Given the description of an element on the screen output the (x, y) to click on. 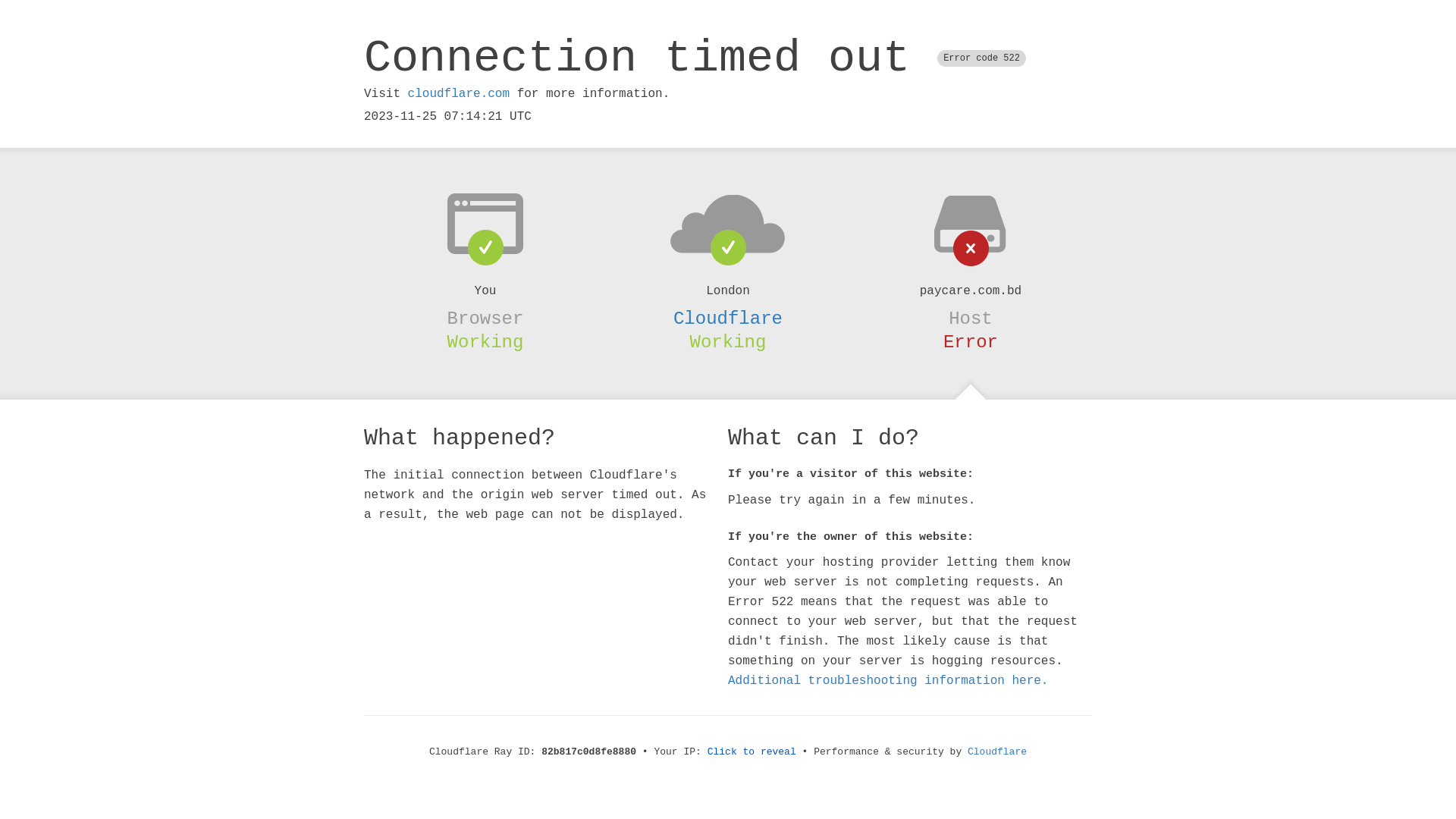
cloudflare.com Element type: text (458, 93)
Additional troubleshooting information here. Element type: text (888, 680)
Cloudflare Element type: text (727, 318)
Cloudflare Element type: text (996, 751)
Click to reveal Element type: text (751, 751)
